Given the description of an element on the screen output the (x, y) to click on. 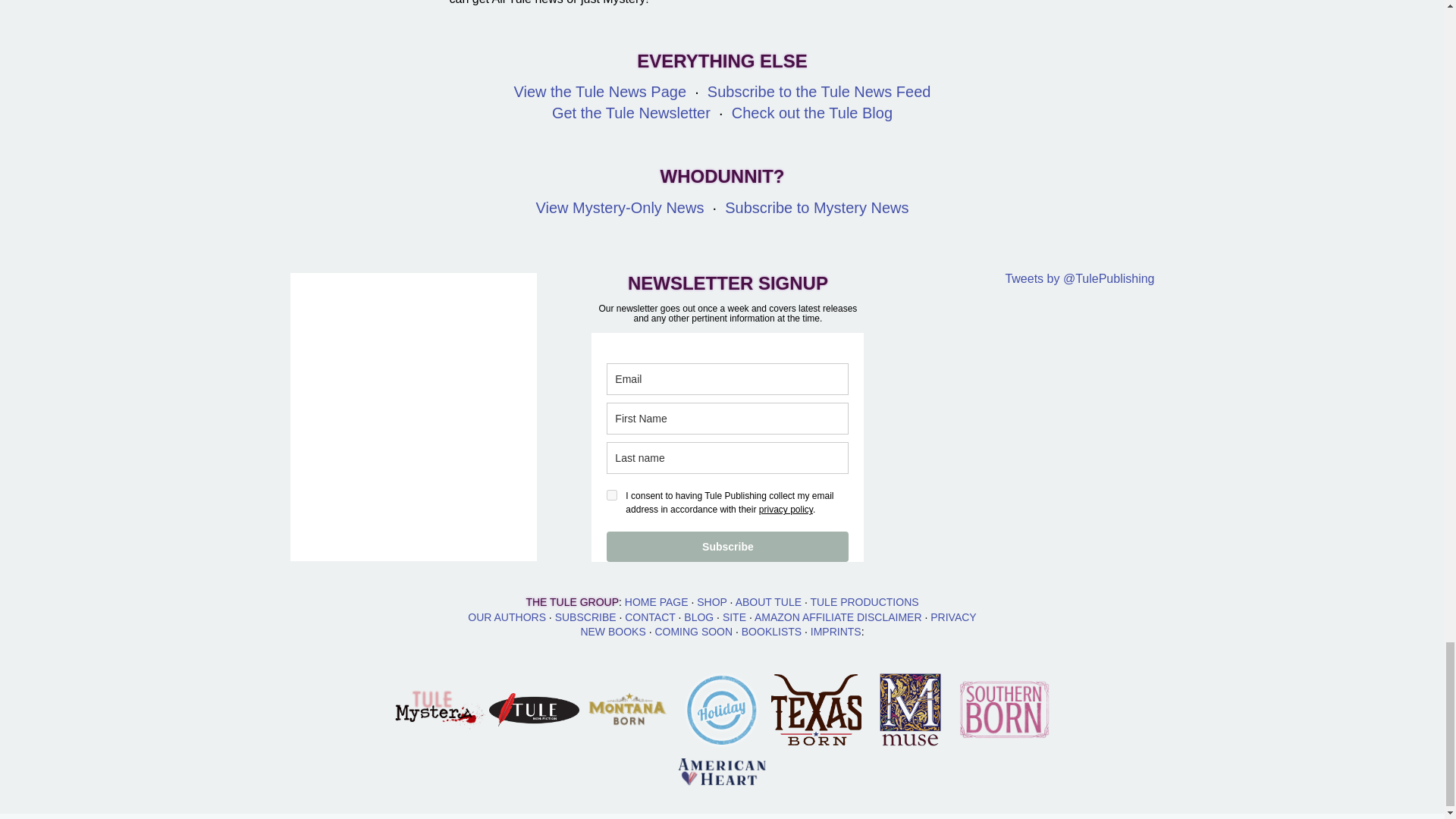
on (612, 494)
